Given the description of an element on the screen output the (x, y) to click on. 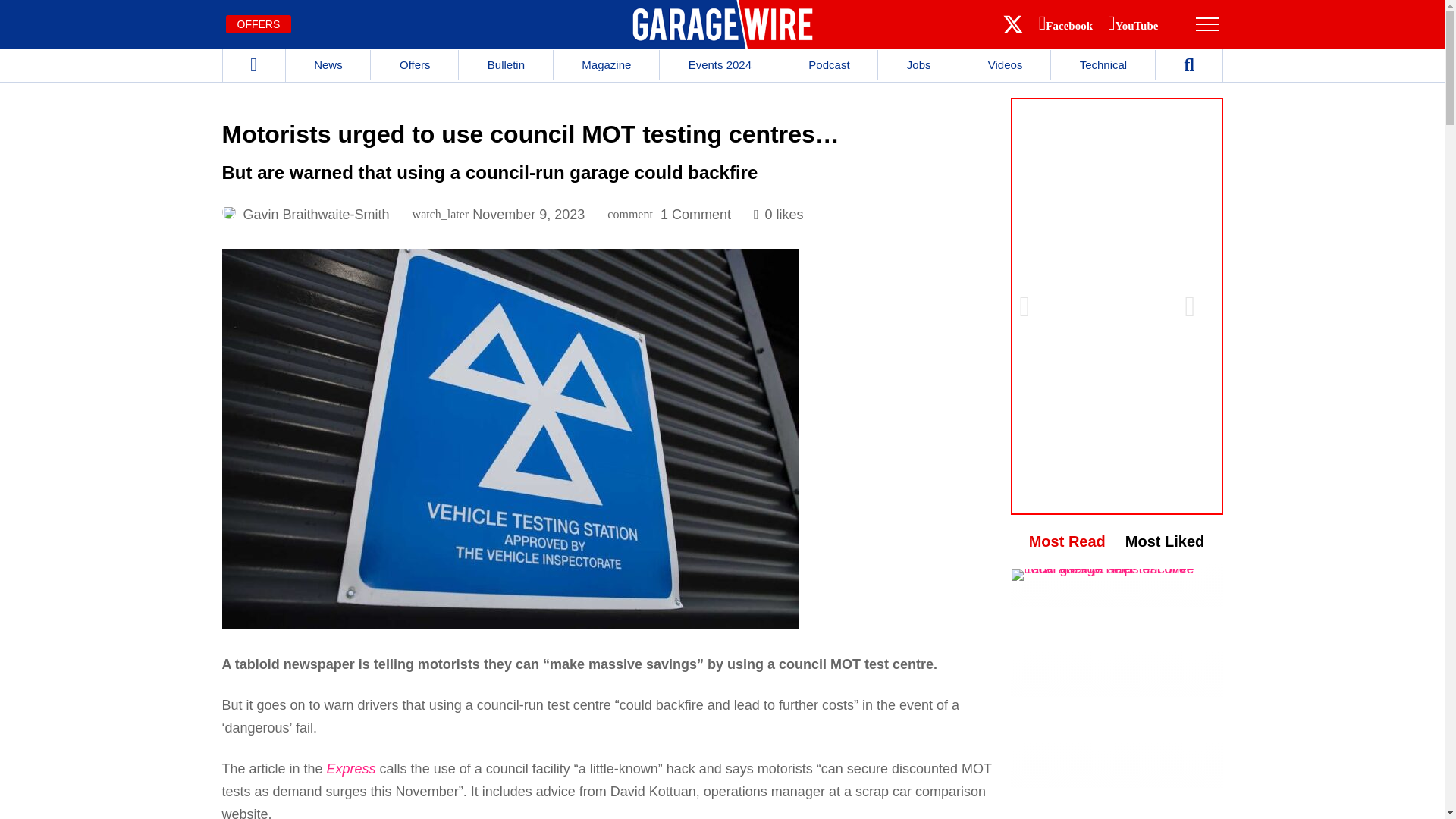
Videos (1005, 64)
Offers (414, 64)
Technical (1103, 64)
Podcast (828, 64)
Express (350, 768)
YouTube (1136, 25)
Garage Wire (722, 24)
1 Comment (695, 214)
News (328, 64)
Jobs (918, 64)
